Given the description of an element on the screen output the (x, y) to click on. 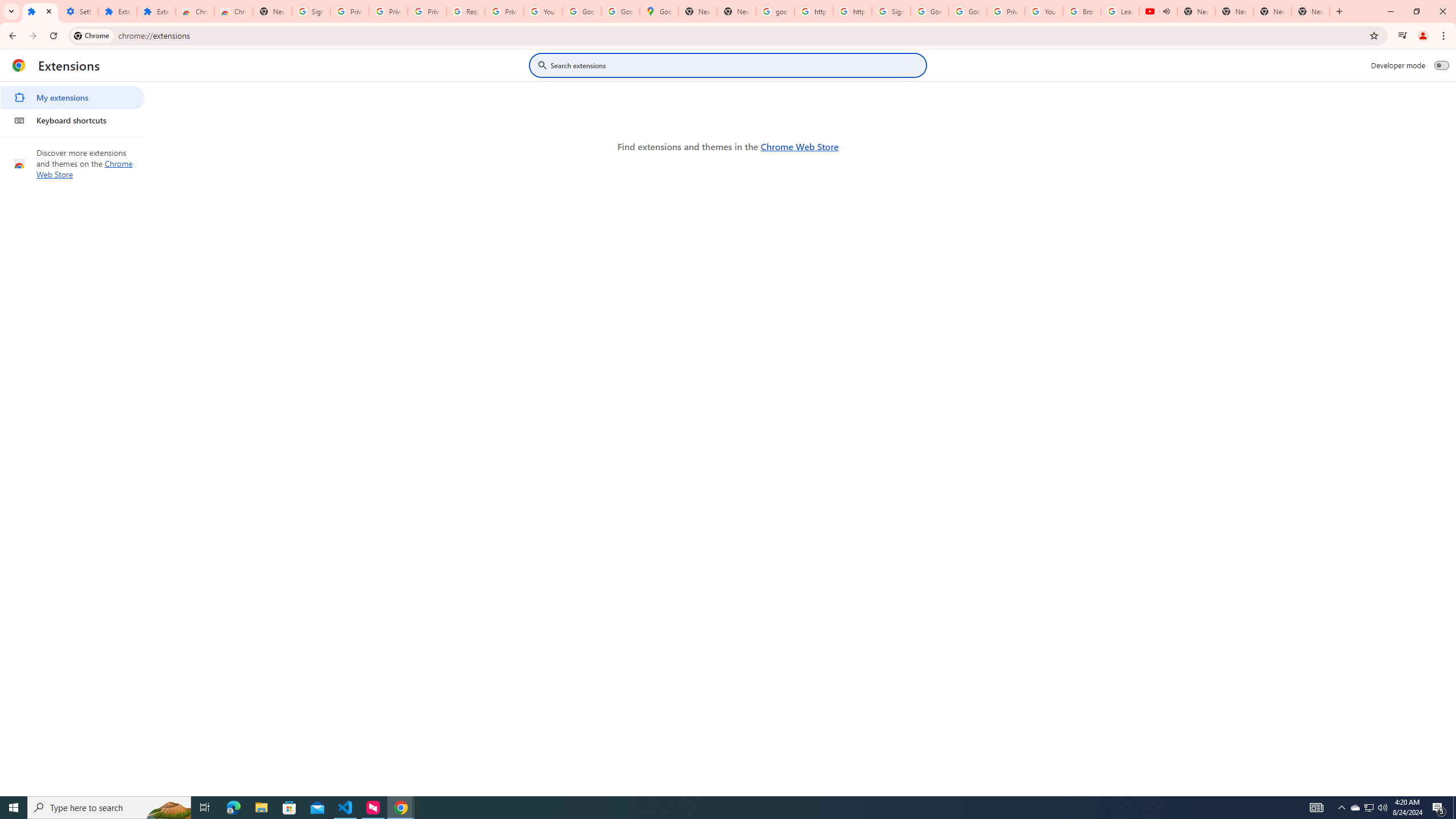
Sign in - Google Accounts (890, 11)
YouTube (542, 11)
Search extensions (735, 65)
YouTube (1043, 11)
Developer mode (1442, 64)
